Given the description of an element on the screen output the (x, y) to click on. 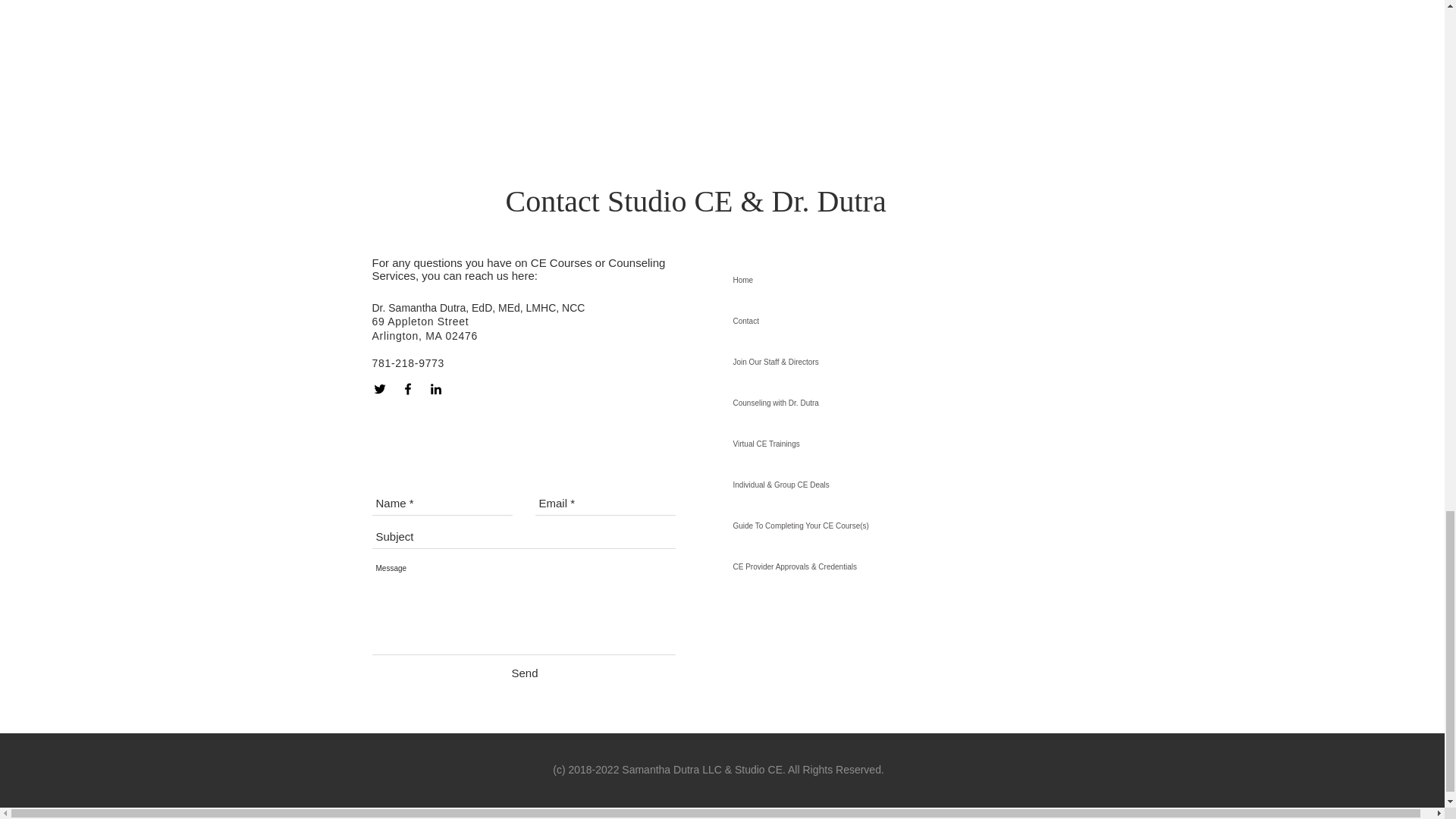
Contact (855, 321)
Home (855, 280)
Send (524, 672)
